Given the description of an element on the screen output the (x, y) to click on. 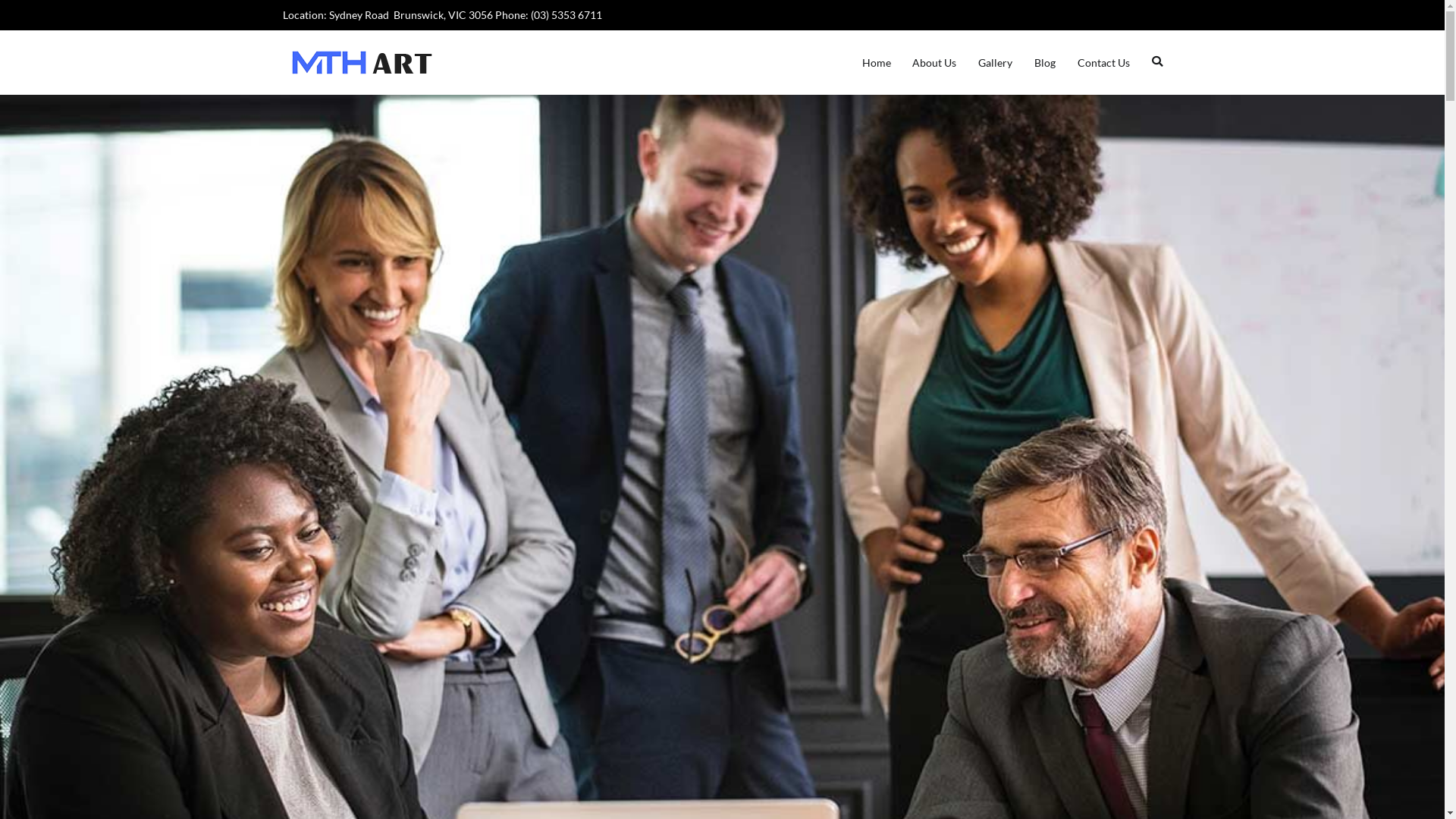
About Us Element type: text (934, 62)
Blog Element type: text (1044, 62)
Home Element type: text (876, 62)
Gallery Element type: text (995, 62)
Contact Us Element type: text (1103, 62)
Mthart Element type: text (475, 73)
Search Element type: text (26, 14)
